Given the description of an element on the screen output the (x, y) to click on. 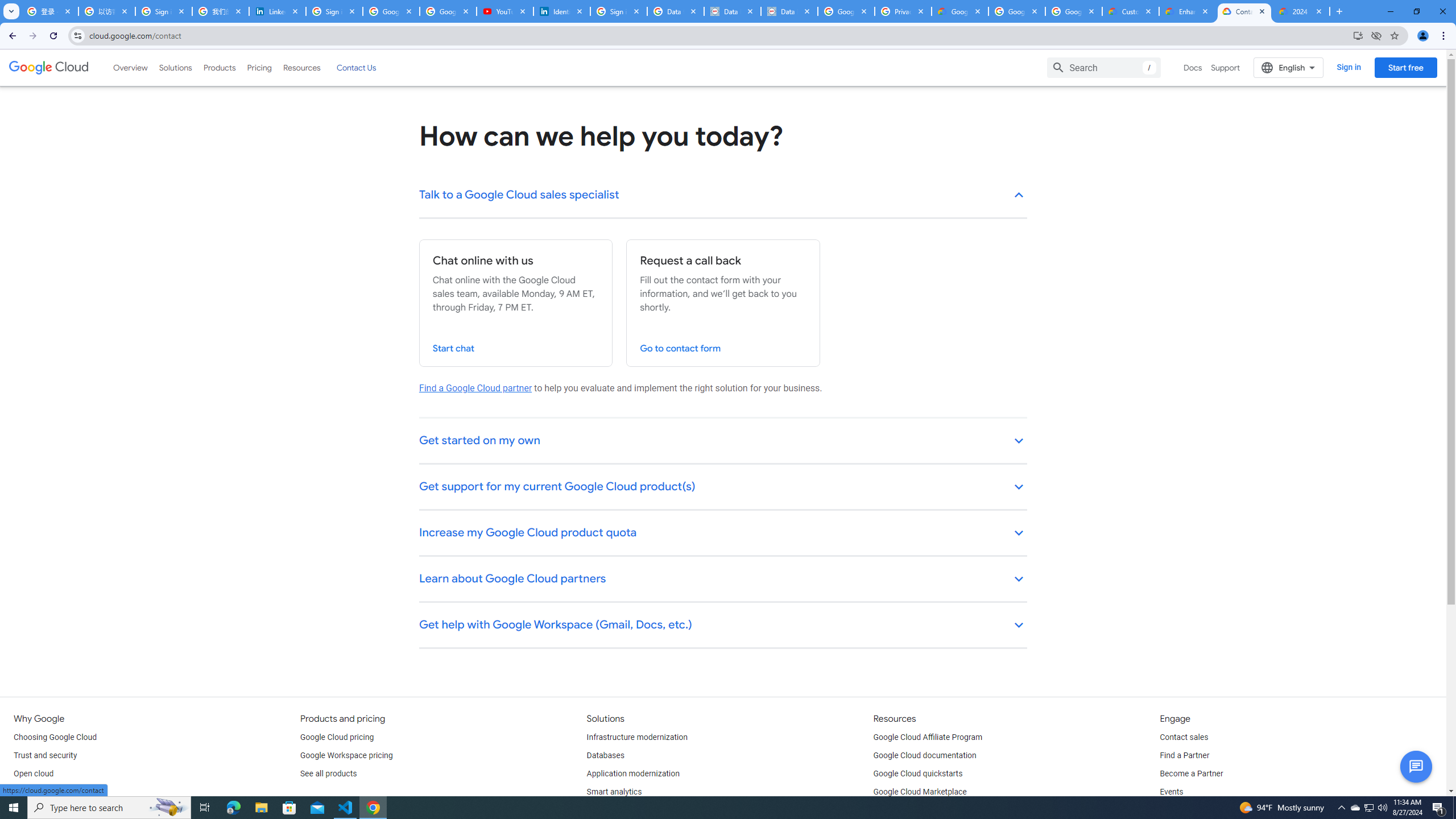
Close (1318, 11)
Sign in - Google Accounts (334, 11)
Google Workspace pricing (346, 755)
Bookmark this tab (1393, 35)
Open cloud (33, 773)
Reload (52, 35)
Sign in (1348, 67)
Enhanced Support | Google Cloud (1187, 11)
Learn about Google Cloud partners keyboard_arrow_down (723, 579)
Data Privacy Framework (788, 11)
Become a Partner (1190, 773)
Google Cloud documentation (924, 755)
Google Workspace - Specific Terms (1073, 11)
Search tabs (10, 11)
